Given the description of an element on the screen output the (x, y) to click on. 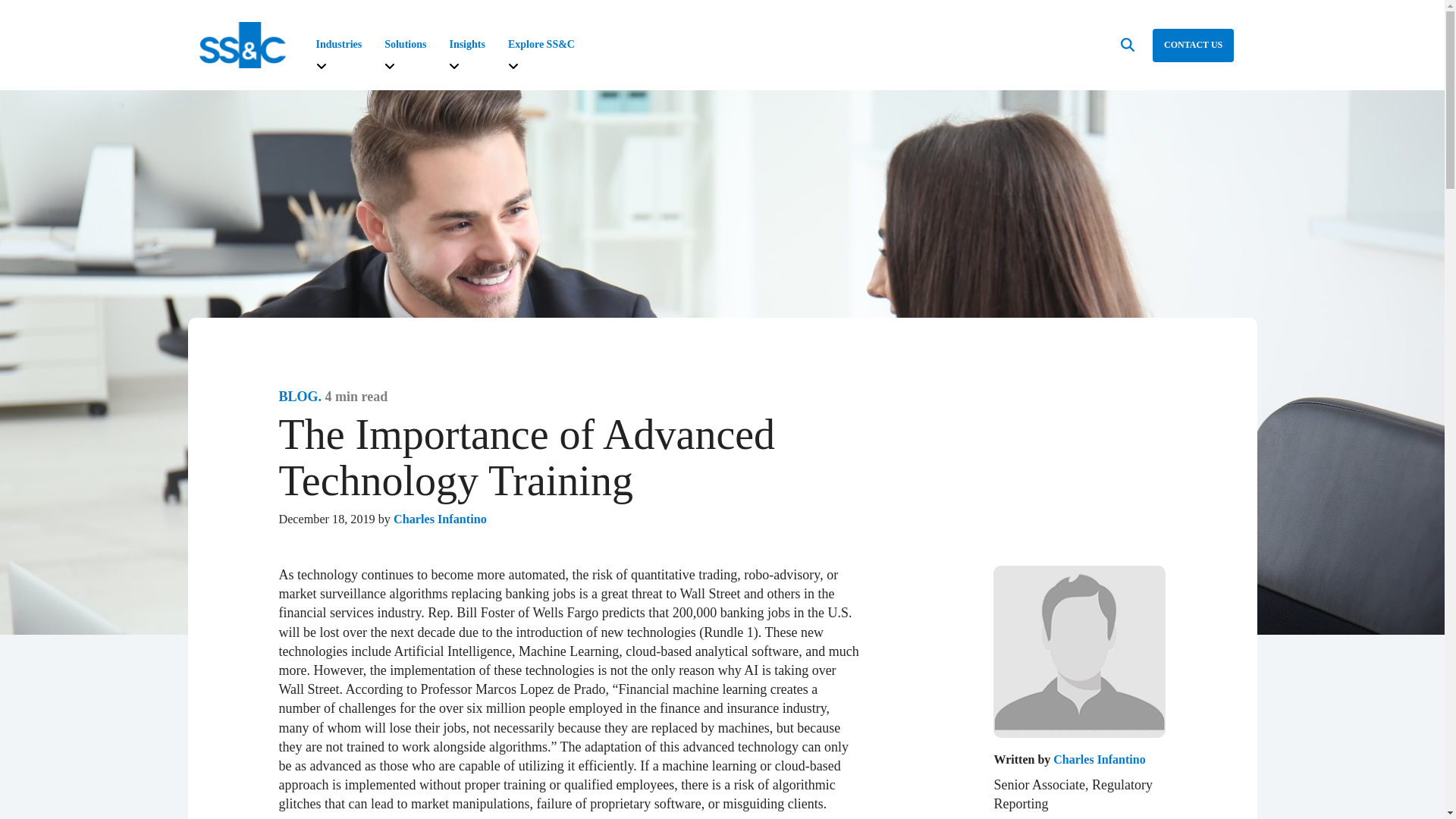
Solutions (405, 44)
Industries (338, 44)
CONTACT US (1193, 45)
